Given the description of an element on the screen output the (x, y) to click on. 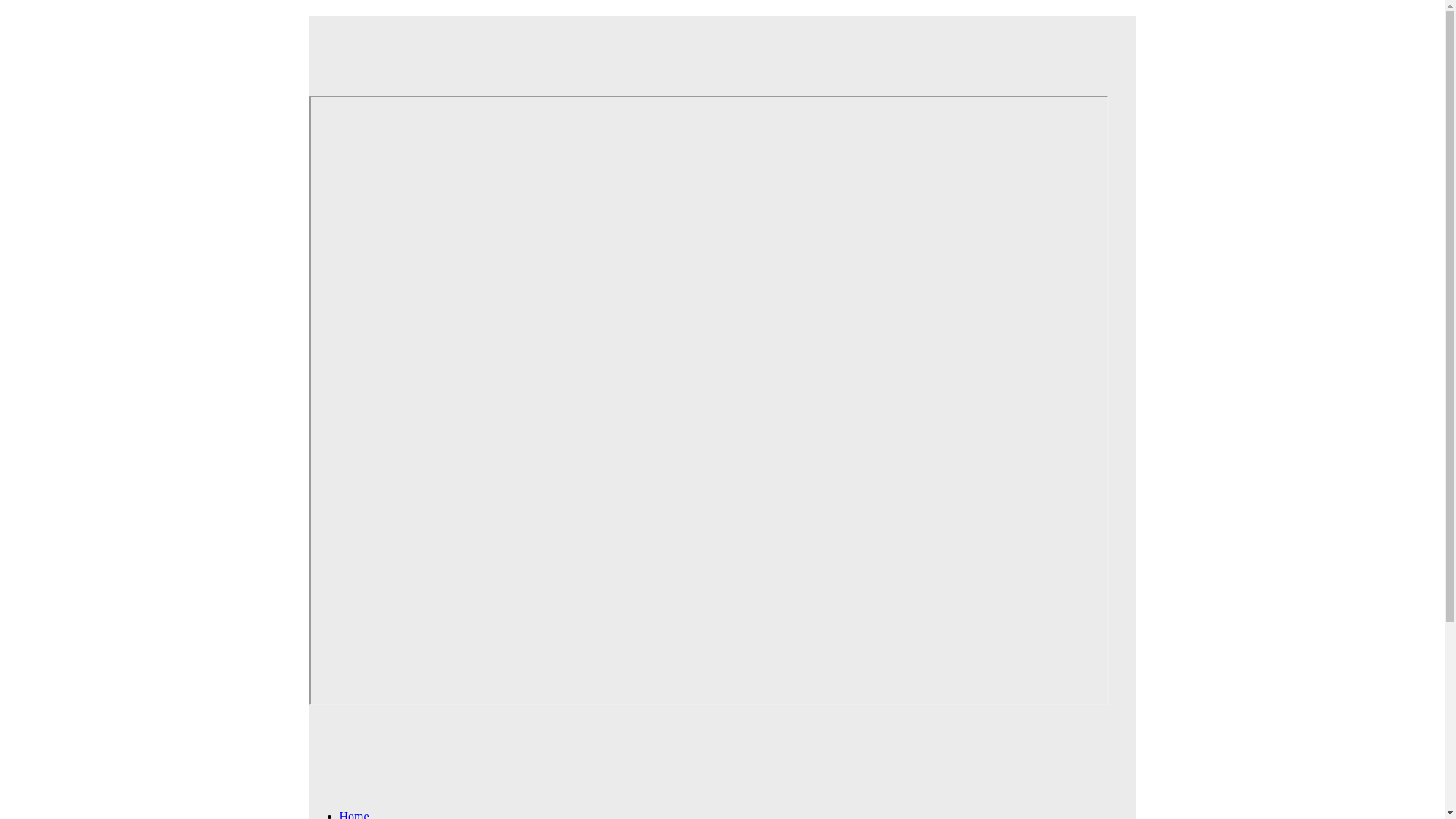
Web Hosting from Just Host Element type: text (707, 44)
